Given the description of an element on the screen output the (x, y) to click on. 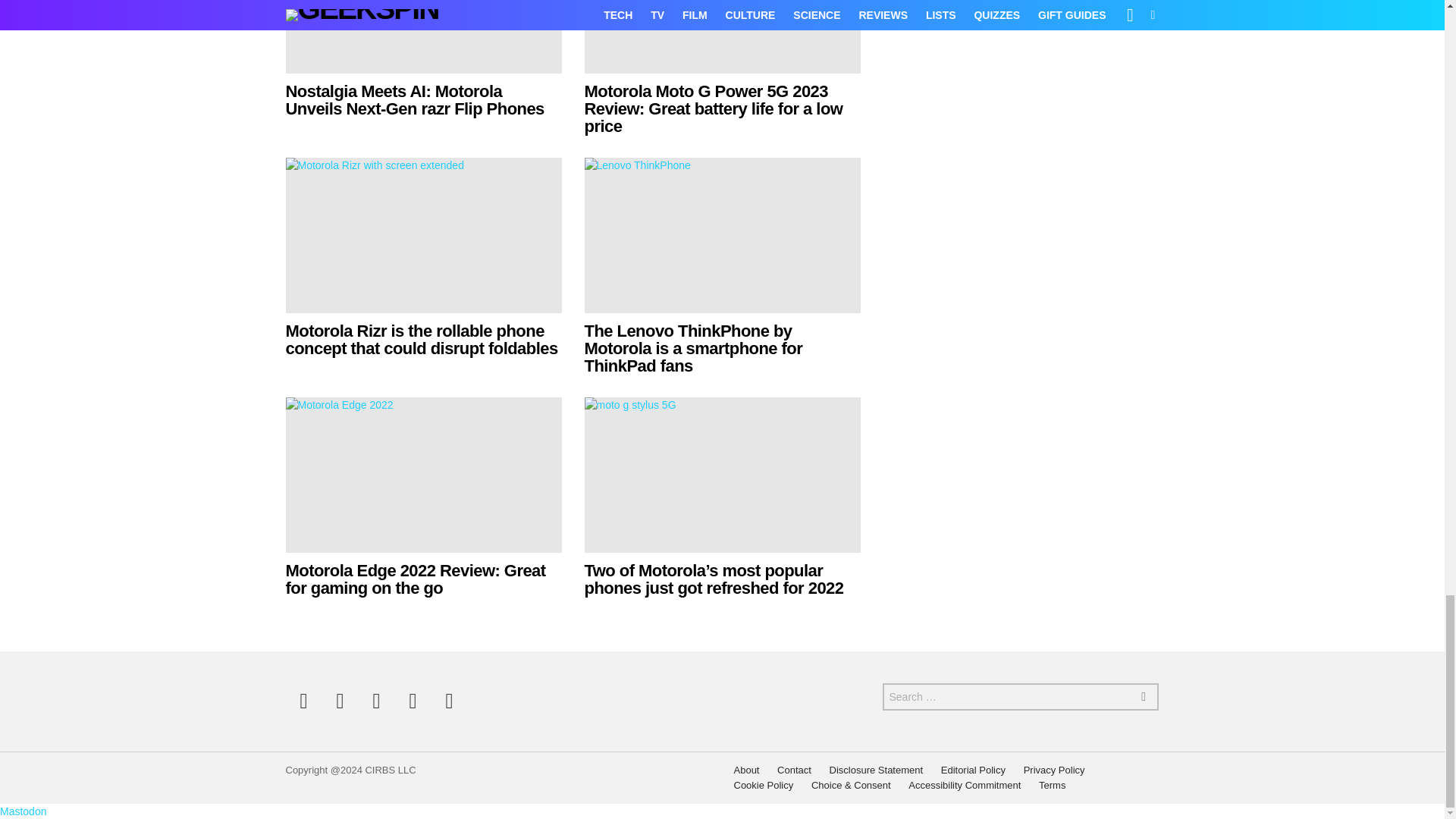
Motorola Edge 2022 Review: Great for gaming on the go (414, 579)
Motorola Edge 2022 Review: Great for gaming on the go (422, 474)
